Given the description of an element on the screen output the (x, y) to click on. 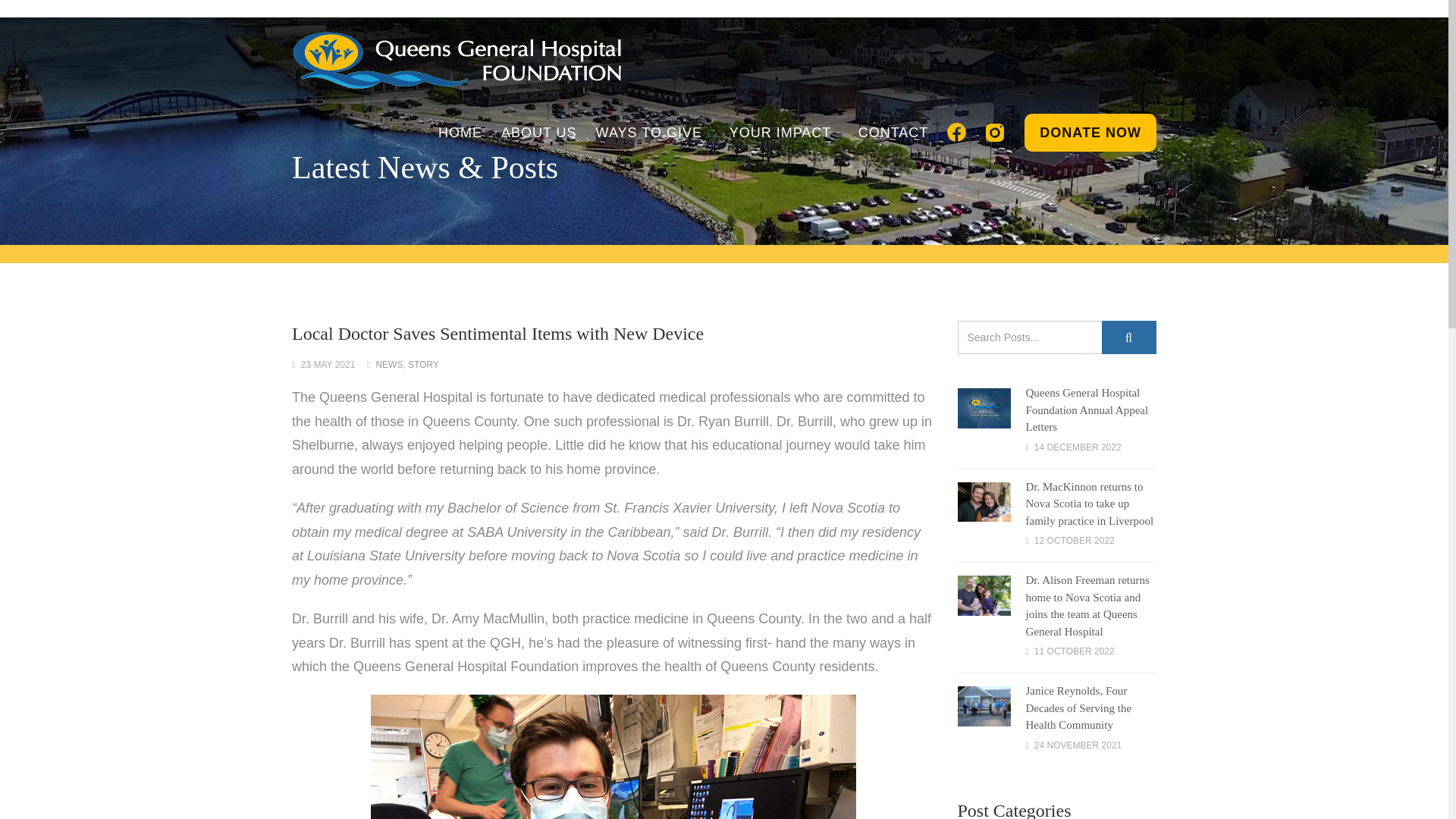
WAYS TO GIVE (652, 132)
HOME (459, 132)
CONTACT (893, 132)
YOUR IMPACT (784, 132)
DONATE NOW (1090, 132)
Queens General Hospital Foundation Annual Appeal Letters (1086, 409)
STORY (423, 364)
NEWS (389, 364)
